Given the description of an element on the screen output the (x, y) to click on. 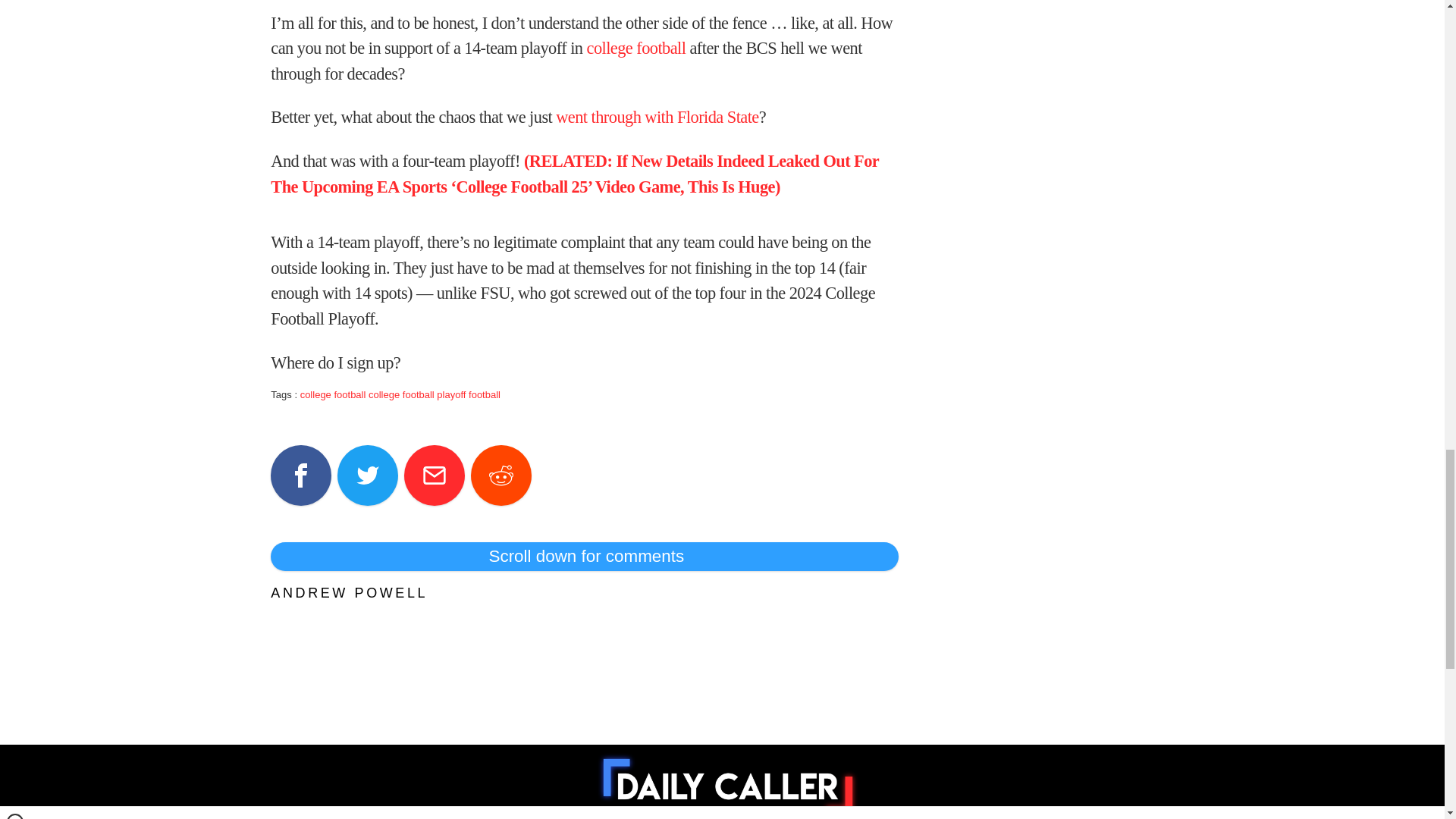
To home page (727, 785)
Scroll down for comments (584, 556)
